Given the description of an element on the screen output the (x, y) to click on. 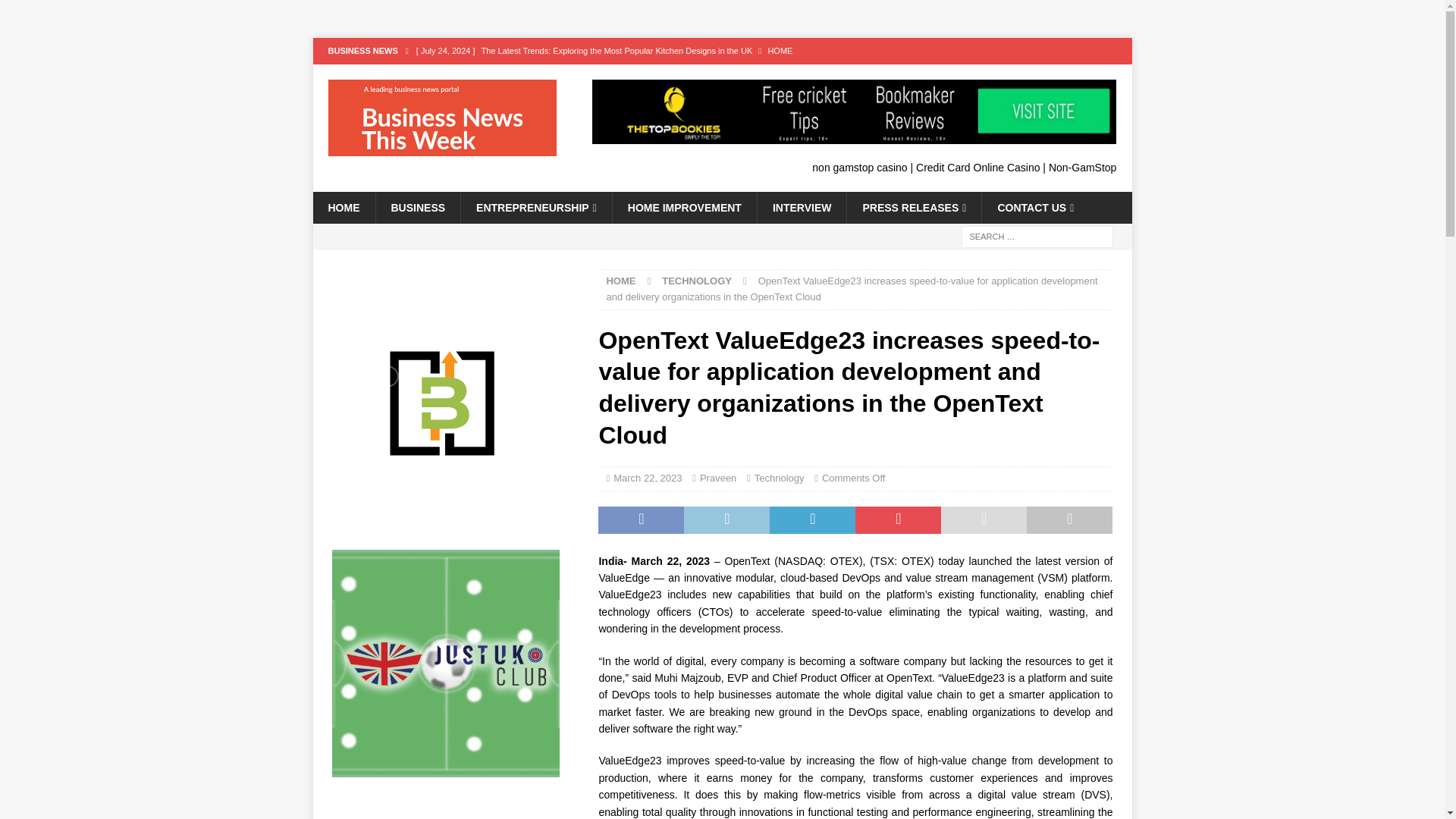
non gamstop casino (859, 167)
Search (56, 11)
TECHNOLOGY (697, 280)
Praveen (718, 478)
Technology (779, 478)
ENTREPRENEURSHIP (535, 207)
PRESS RELEASES (913, 207)
Credit Card Online Casino (977, 167)
HOME IMPROVEMENT (684, 207)
Non-GamStop (1082, 167)
HOME (343, 207)
March 22, 2023 (646, 478)
CONTACT US (1035, 207)
3rd party ad content (455, 815)
BUSINESS (417, 207)
